Given the description of an element on the screen output the (x, y) to click on. 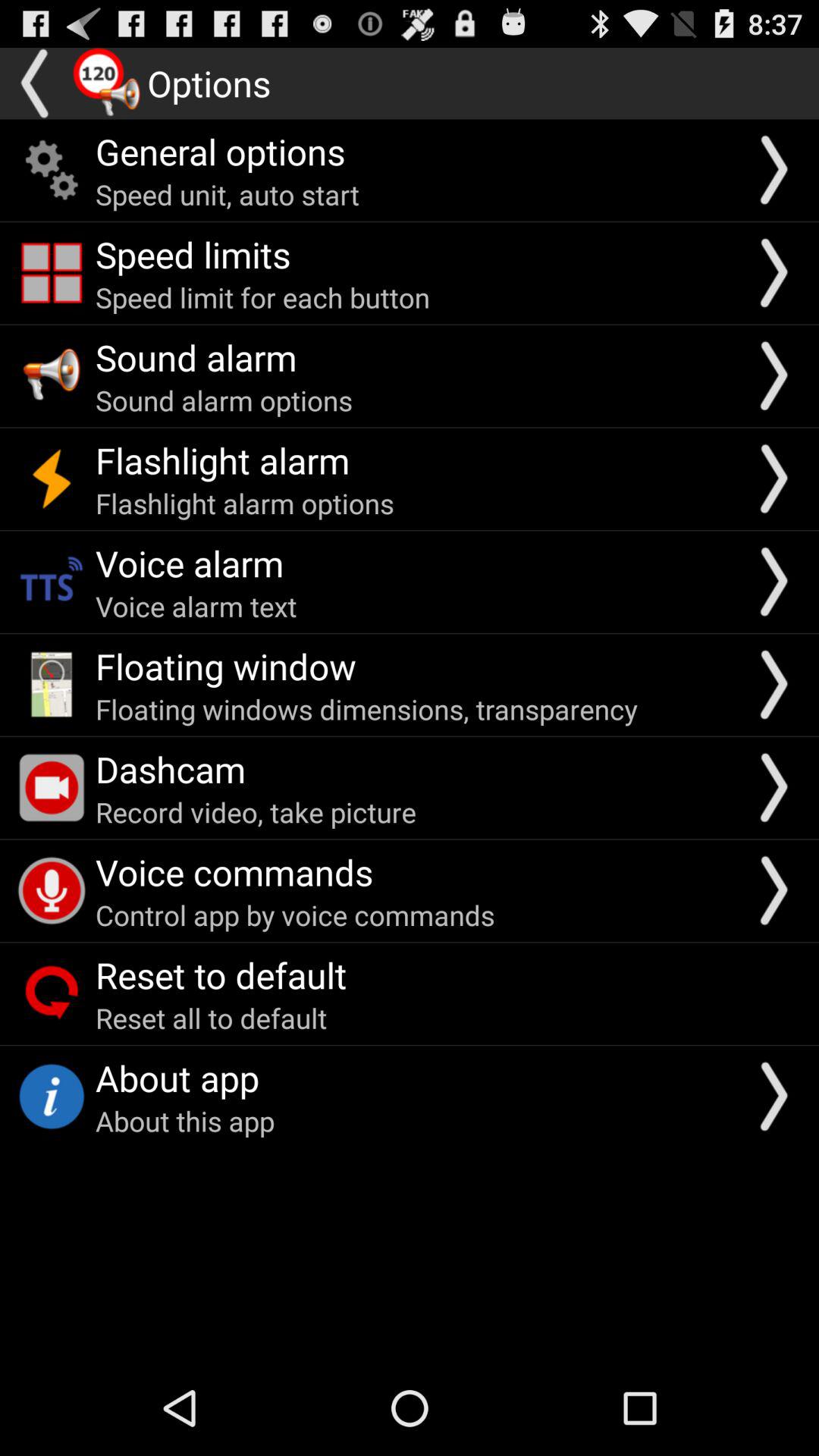
choose the icon below floating window icon (366, 709)
